Given the description of an element on the screen output the (x, y) to click on. 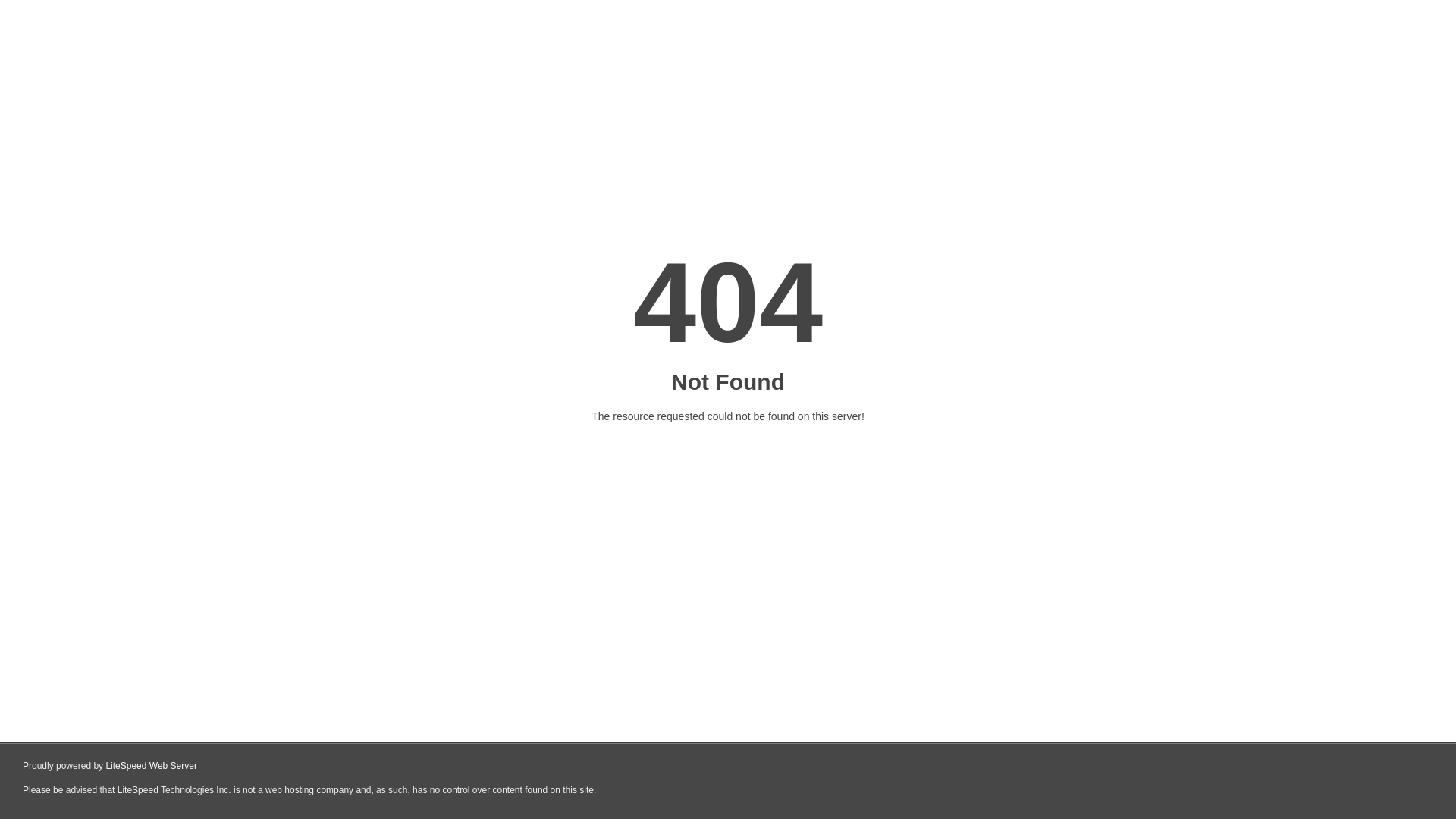
LiteSpeed Web Server Element type: text (151, 765)
